Given the description of an element on the screen output the (x, y) to click on. 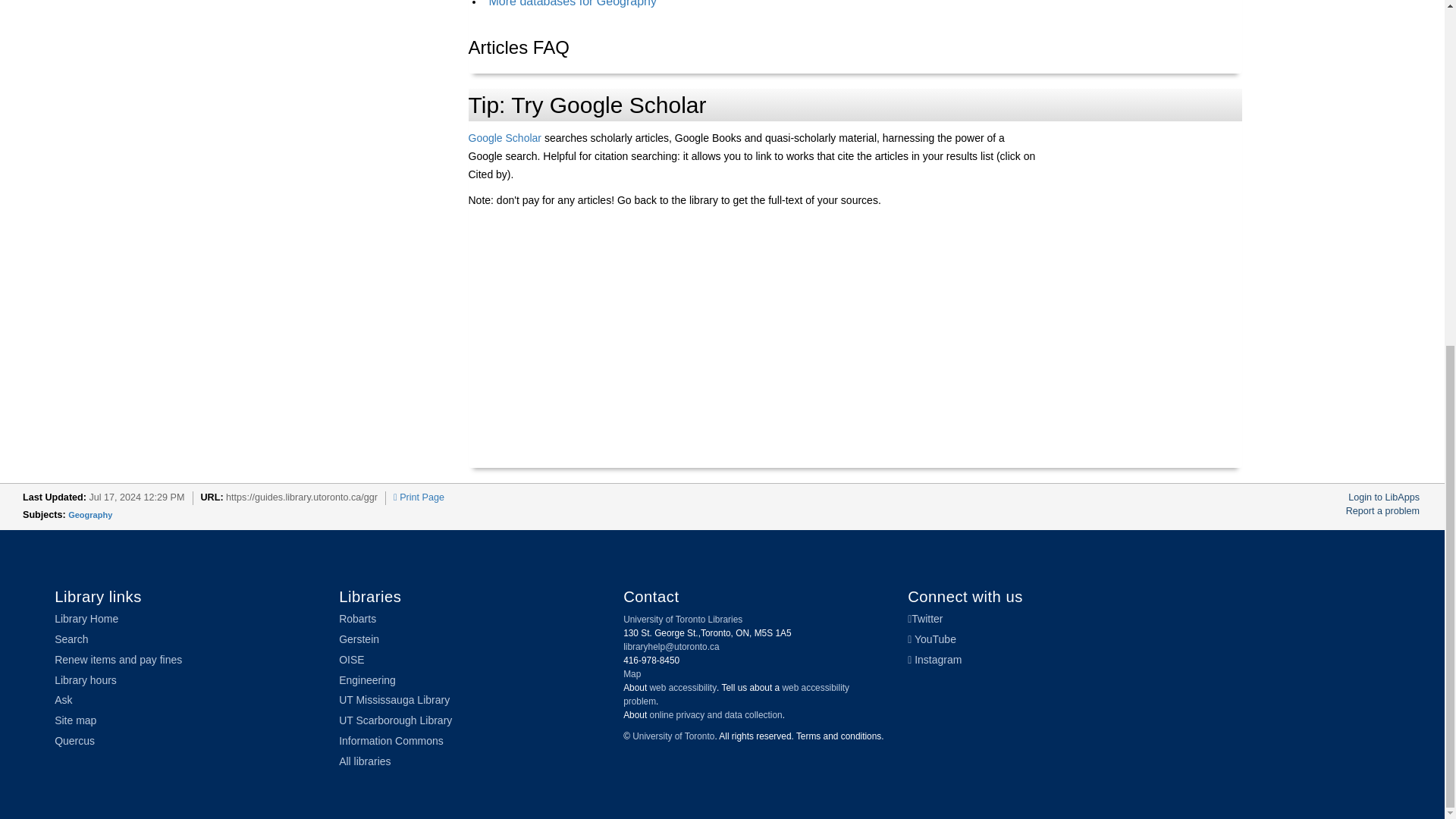
More databases for Geography (571, 3)
Report a problem (1382, 511)
Google Scholar (504, 137)
Login to LibApps (1383, 497)
Print Page (418, 497)
